Given the description of an element on the screen output the (x, y) to click on. 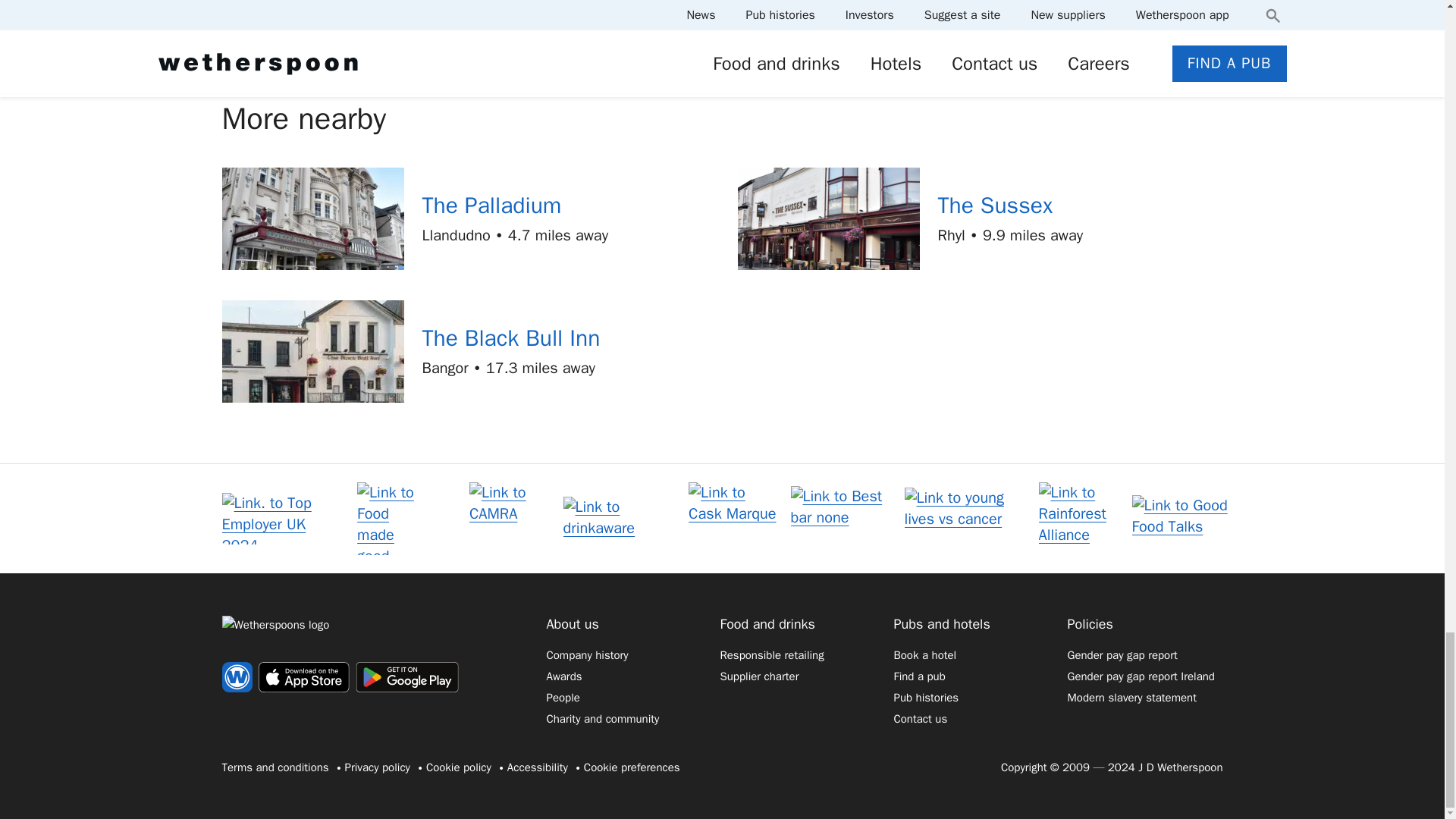
The Palladium (491, 205)
The Sussex (994, 205)
